Given the description of an element on the screen output the (x, y) to click on. 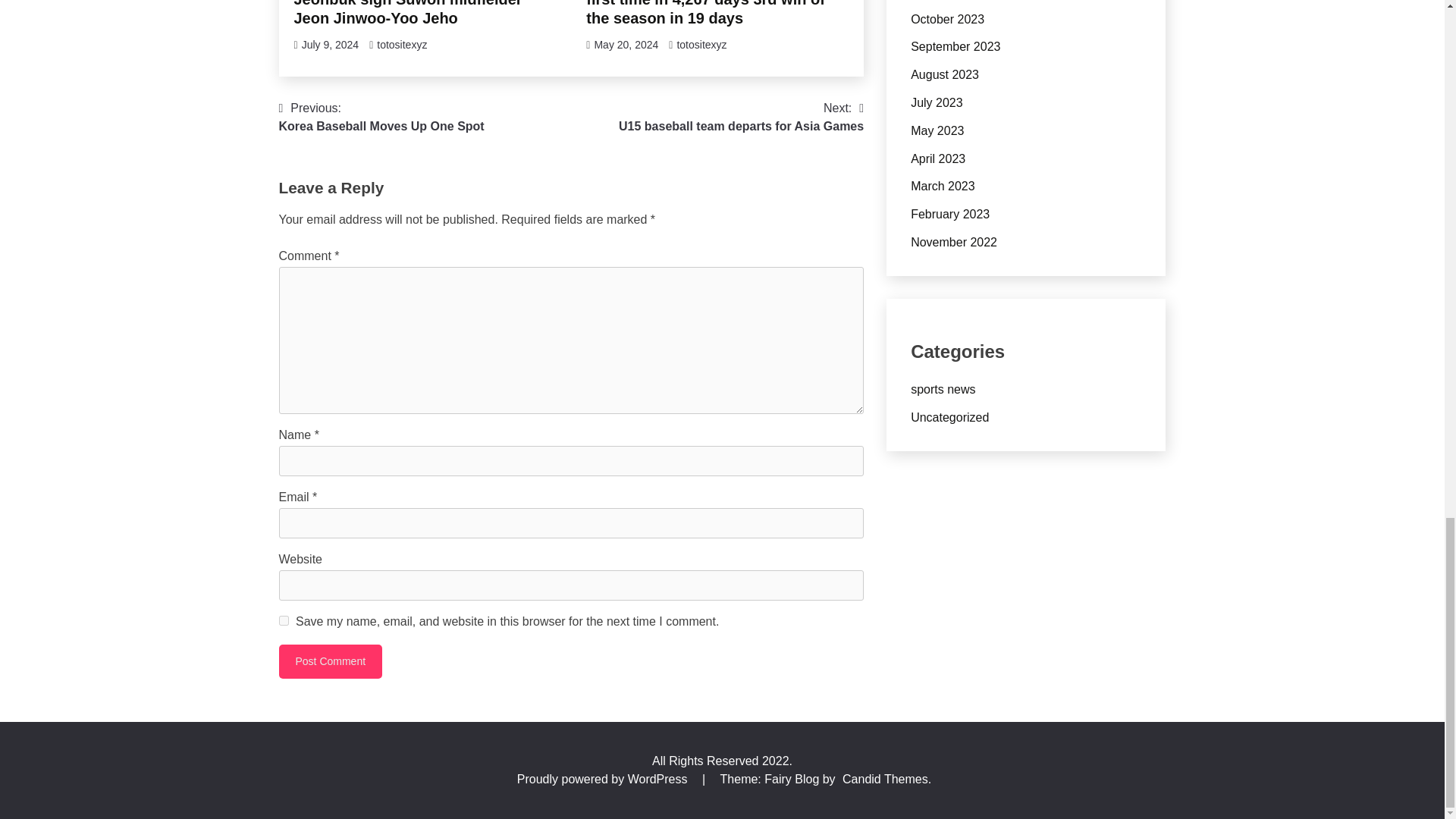
July 9, 2024 (330, 44)
May 20, 2024 (626, 44)
Post Comment (330, 661)
yes (381, 117)
Post Comment (283, 620)
totositexyz (330, 661)
totositexyz (740, 117)
